Given the description of an element on the screen output the (x, y) to click on. 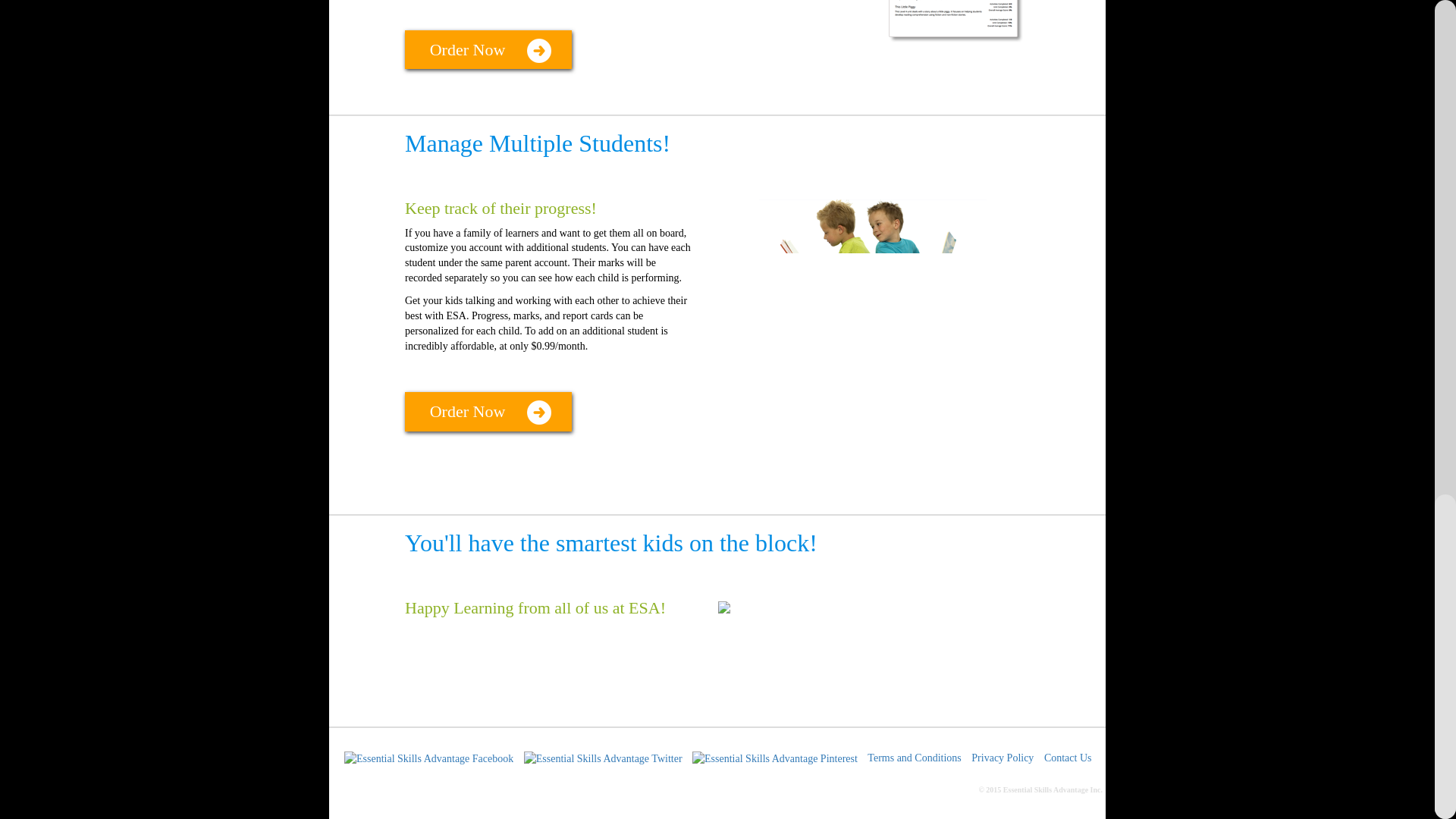
Order Now (488, 49)
Essential Skills Advantage Twitter (604, 757)
Essential Skills Advantage Pinterest (776, 757)
Order Now (488, 411)
Contact Us (1067, 757)
Privacy Policy (1002, 757)
Essential Skills Advantage Facebook (429, 757)
Terms and Conditions (913, 757)
